Given the description of an element on the screen output the (x, y) to click on. 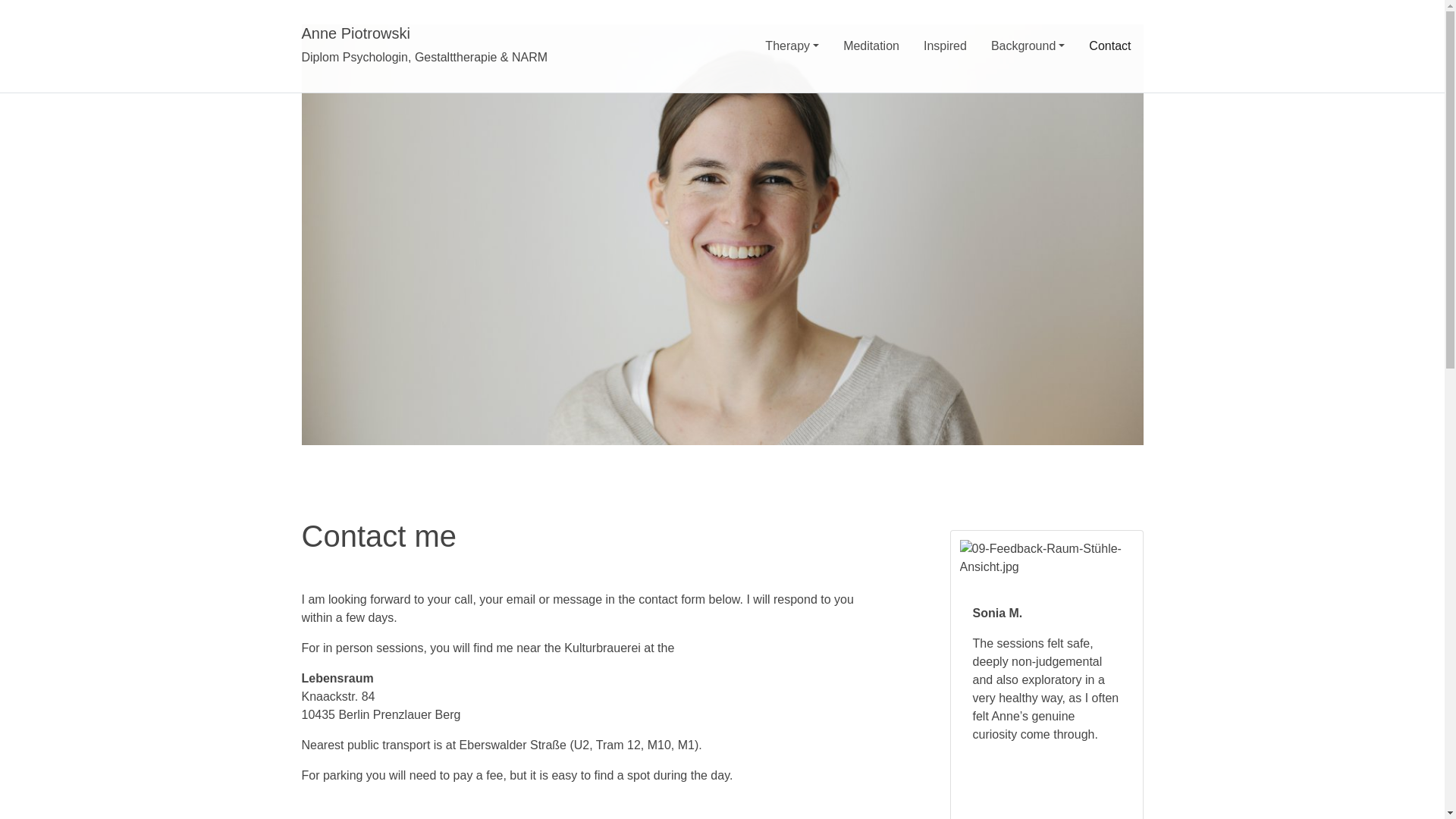
Inspired (944, 46)
Meditation (871, 46)
Background (1027, 46)
Contact (1109, 46)
Therapy (791, 46)
